Given the description of an element on the screen output the (x, y) to click on. 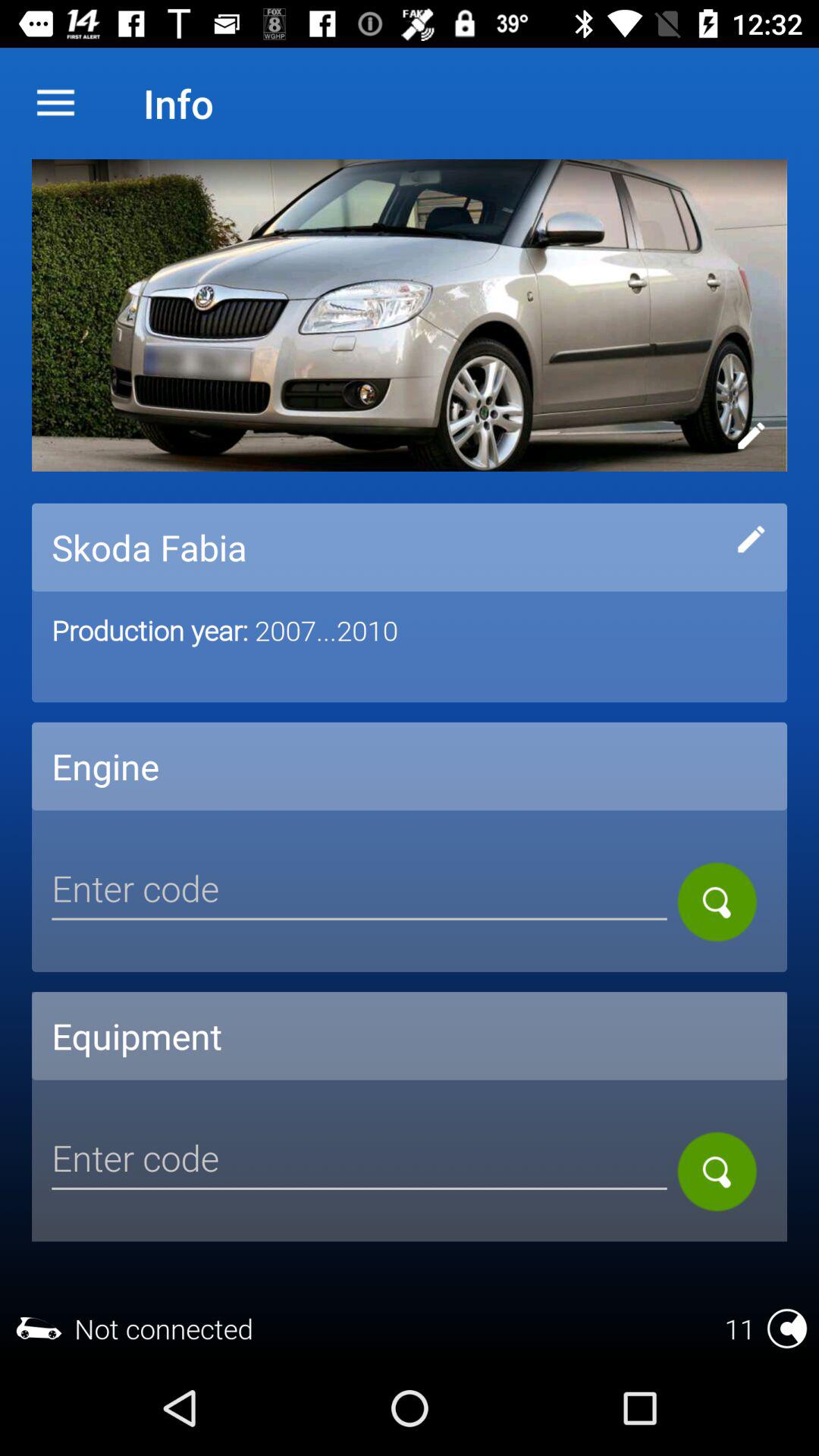
search equipment (717, 1171)
